Given the description of an element on the screen output the (x, y) to click on. 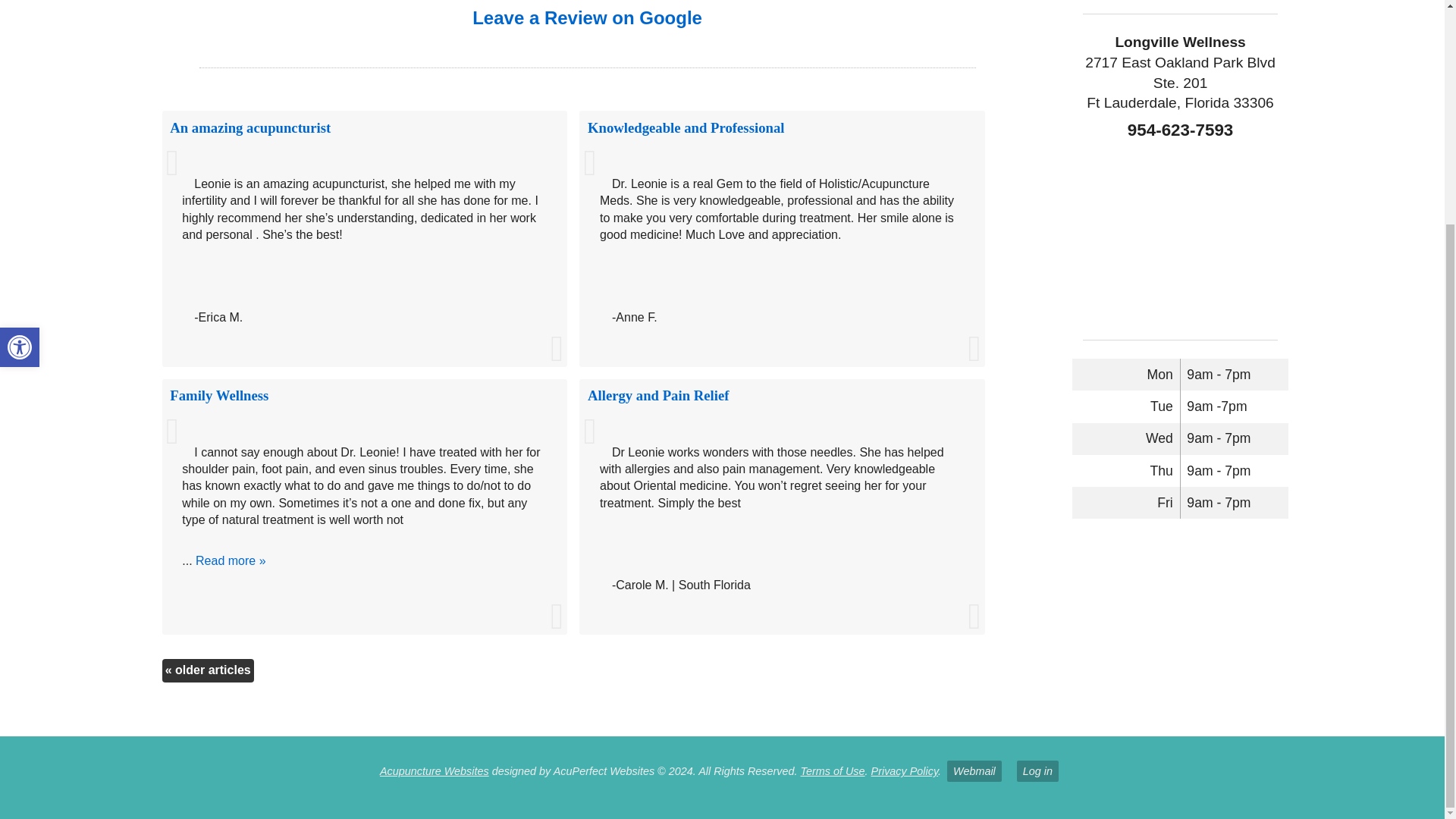
Accessibility Tools (19, 47)
Read (658, 395)
Read (686, 127)
Acupuncture Websites (19, 47)
Accessibility Tools (434, 770)
Read (19, 48)
Read (250, 127)
Google Map of Business (218, 395)
